Given the description of an element on the screen output the (x, y) to click on. 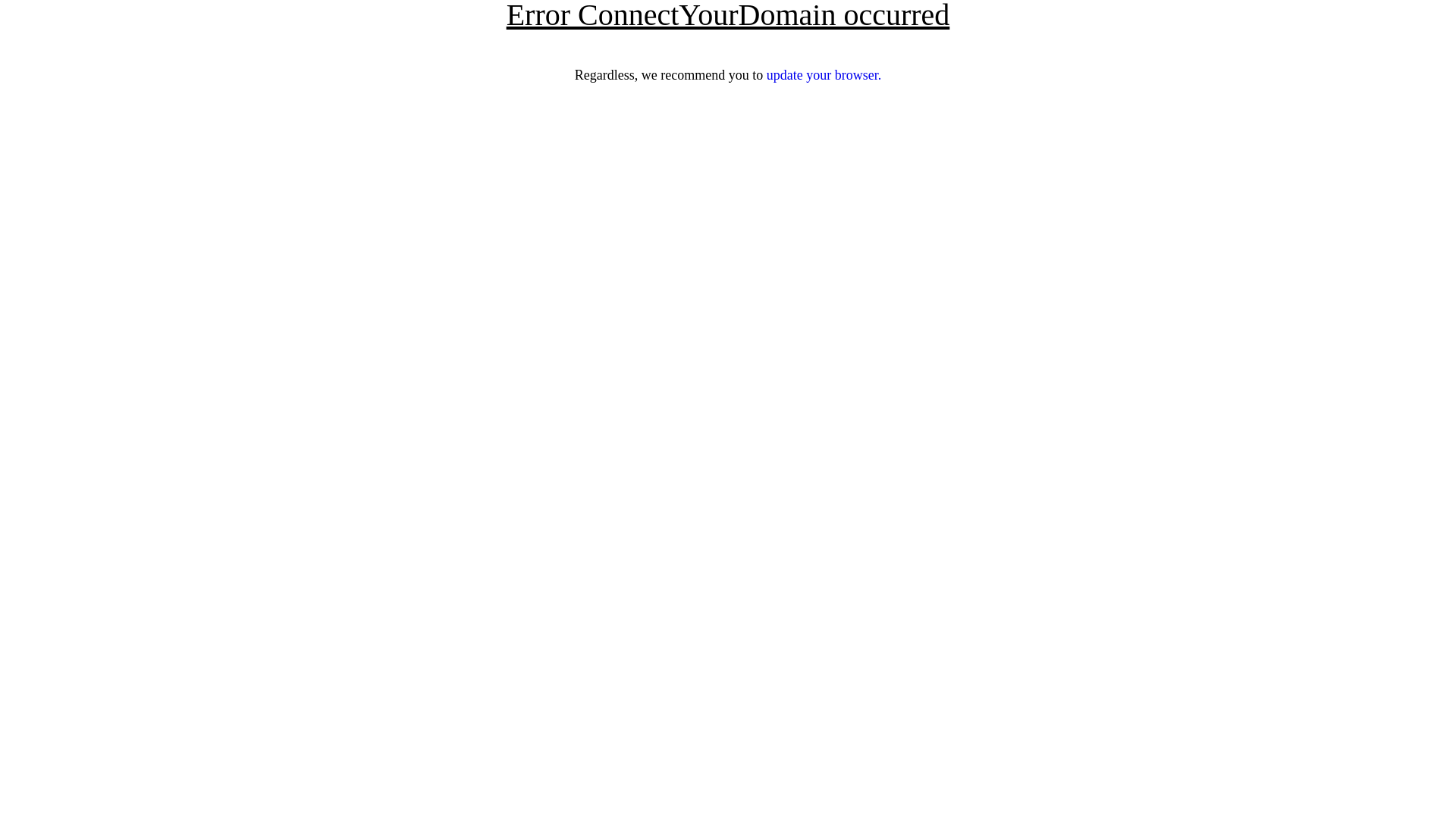
update your browser. Element type: text (823, 74)
